Given the description of an element on the screen output the (x, y) to click on. 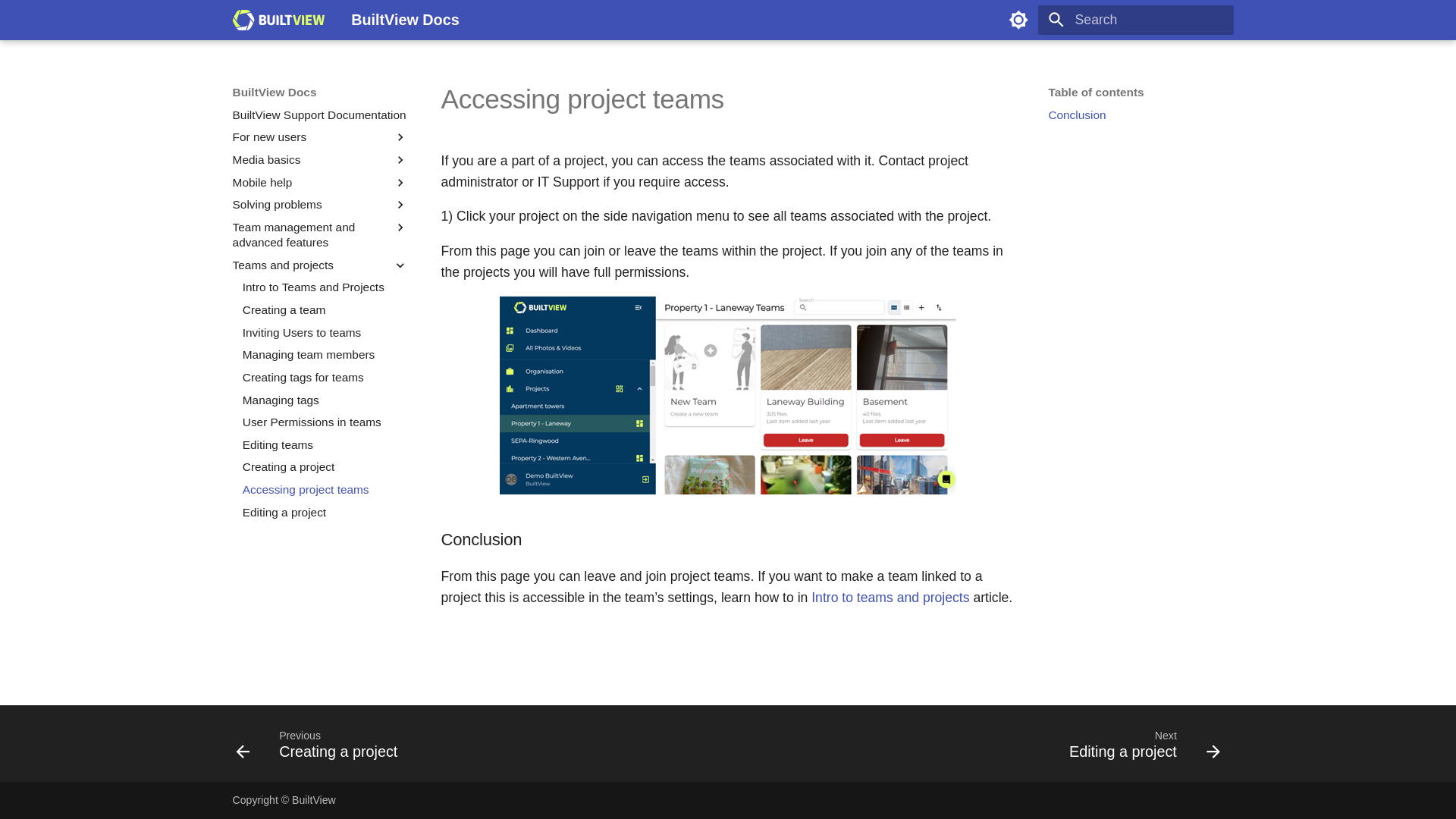
BuiltView Docs (278, 19)
BuiltView Support Documentation (1135, 385)
Intro to Teams and Projects (319, 114)
Creating a team (325, 287)
Switch to dark mode (325, 309)
Inviting Users to teams (1018, 19)
